Given the description of an element on the screen output the (x, y) to click on. 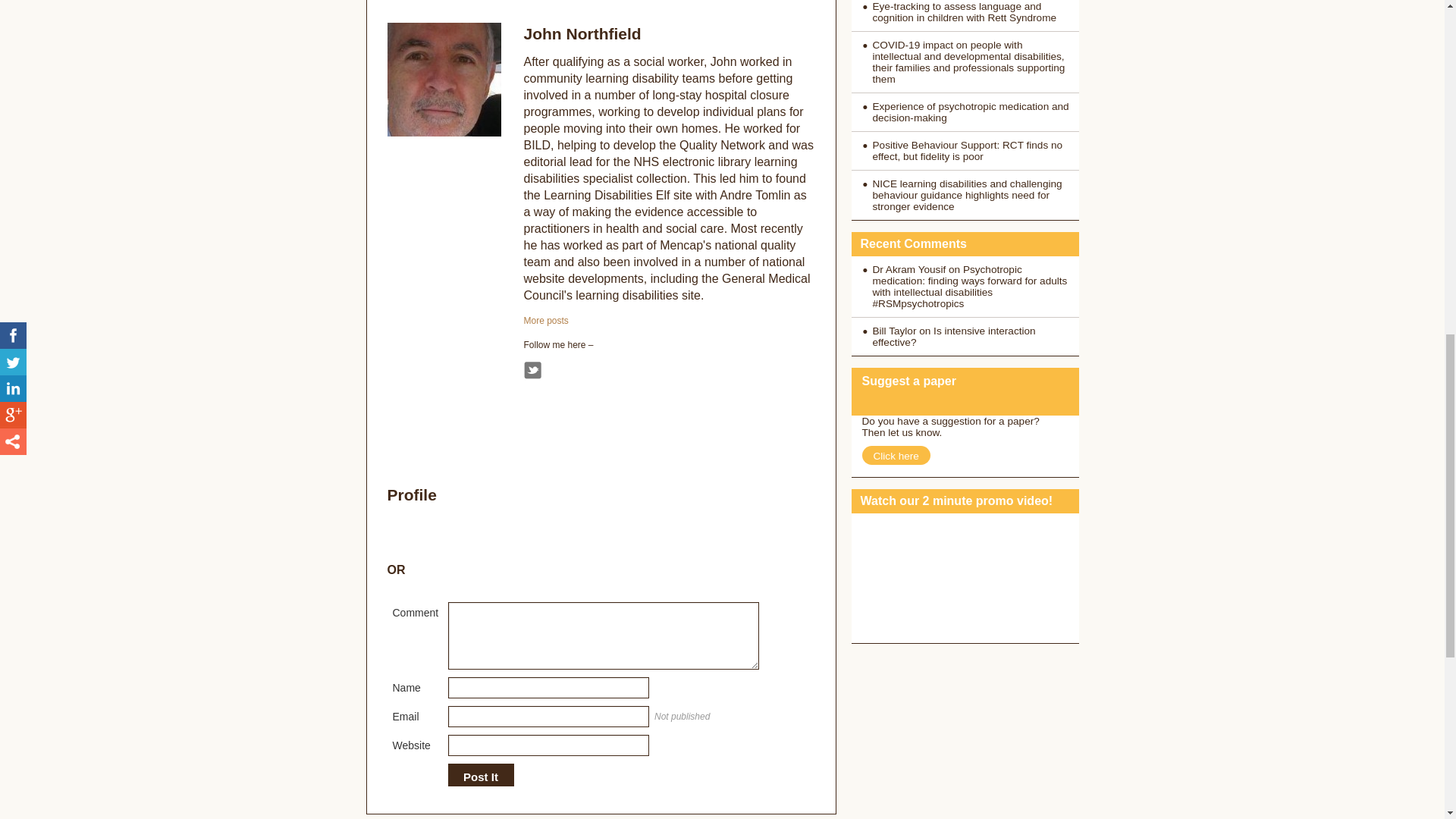
Post It (479, 777)
Twitter (531, 370)
John Northfield (544, 320)
John Northfield (581, 33)
